Given the description of an element on the screen output the (x, y) to click on. 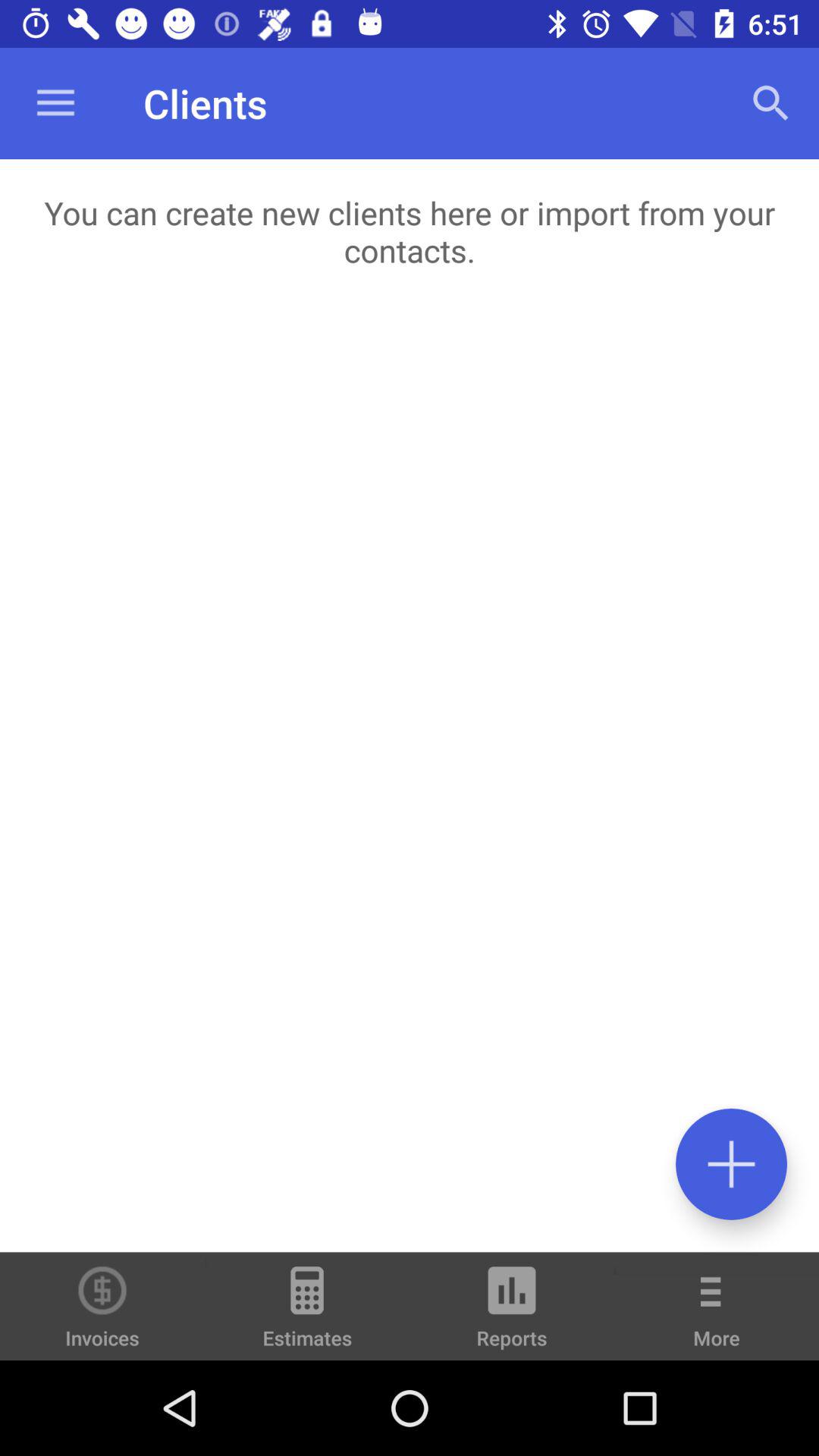
choose more item (716, 1317)
